Given the description of an element on the screen output the (x, y) to click on. 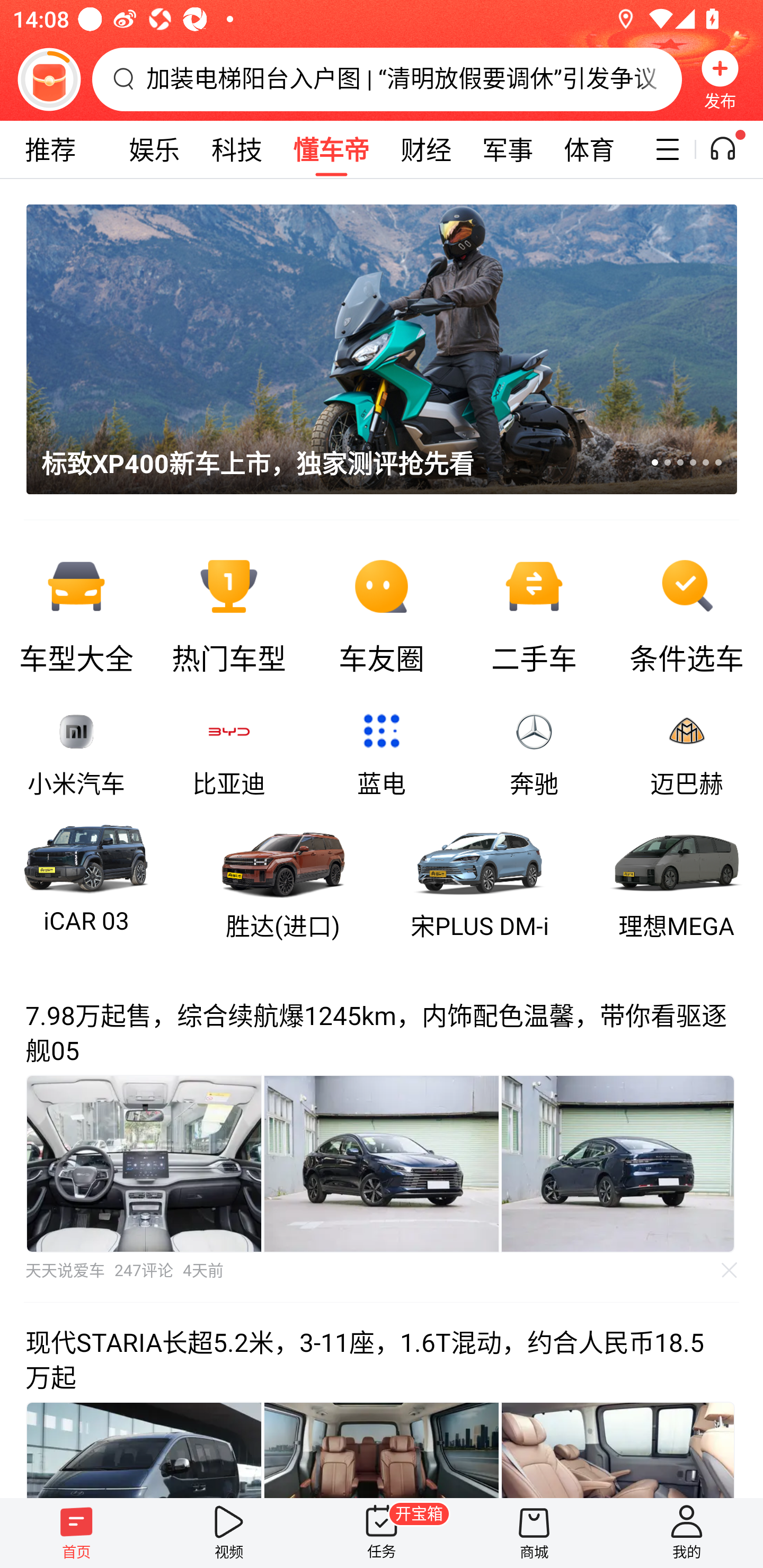
阅读赚金币 (48, 79)
发布 发布，按钮 (720, 78)
推荐 (49, 149)
娱乐 (154, 149)
科技 (236, 149)
懂车帝 (331, 149)
财经 (425, 149)
军事 (507, 149)
体育 (589, 149)
听一听开关 (732, 149)
标致XP400新车上市，独家测评抢先看 (368, 348)
车型大全按钮 (76, 612)
热门车型按钮 (228, 612)
车友圈按钮 (381, 612)
二手车按钮 (533, 612)
条件选车按钮 (686, 612)
小米汽车按钮 (76, 754)
比亚迪按钮 (228, 754)
蓝电按钮 (381, 754)
奔驰按钮 (533, 754)
迈巴赫按钮 (686, 754)
iCAR 03按钮 (86, 879)
胜达(进口)按钮 (283, 879)
宋PLUS DM-i按钮 (479, 879)
理想MEGA按钮 (676, 879)
三张内容图片 内容图片 内容图片 内容图片 (381, 1163)
内容图片 (381, 1163)
内容图片 (617, 1163)
不感兴趣 (729, 1269)
首页 (76, 1532)
视频 (228, 1532)
任务 开宝箱 (381, 1532)
商城 (533, 1532)
我的 (686, 1532)
